Given the description of an element on the screen output the (x, y) to click on. 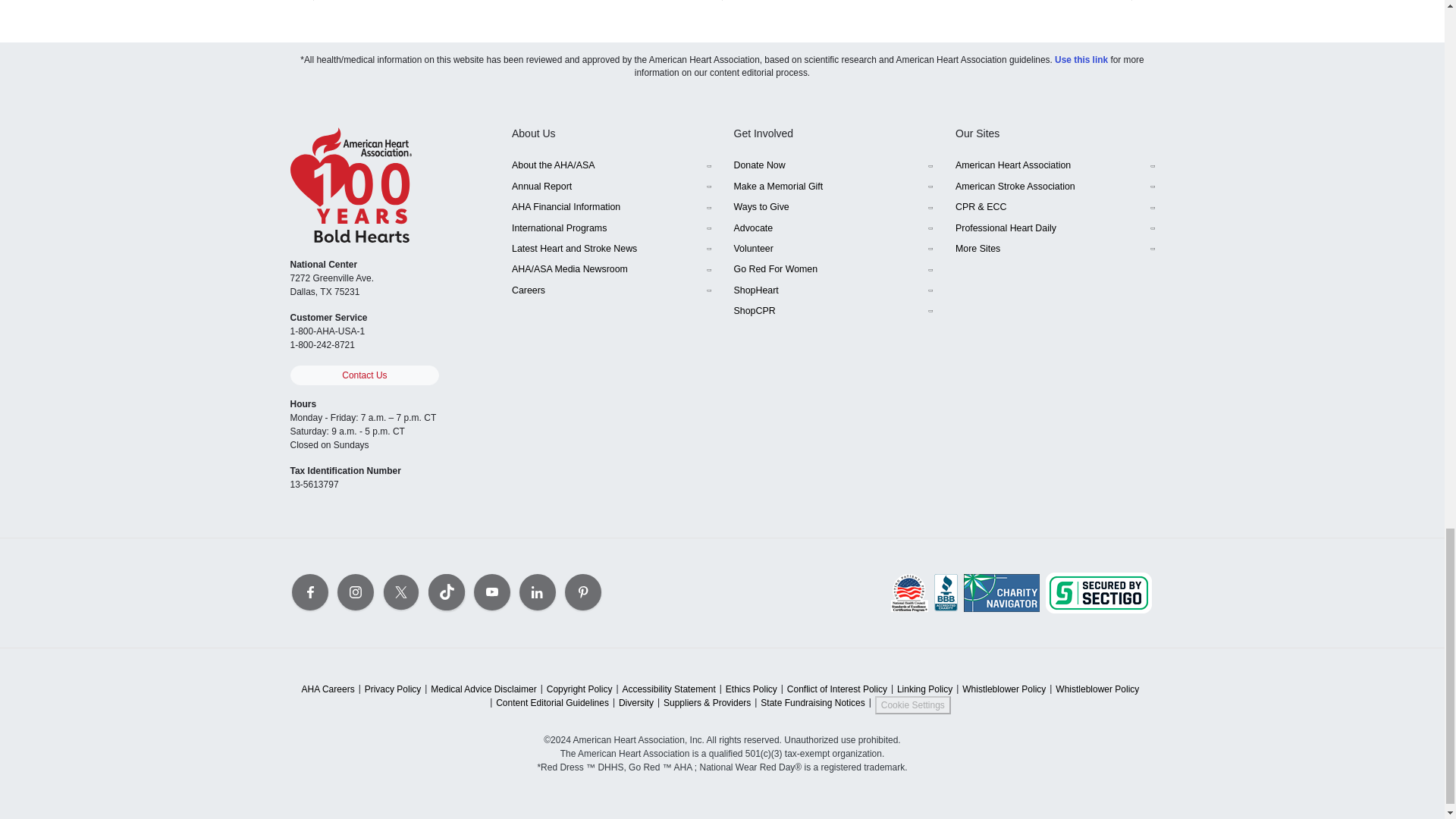
American Heart Association (1054, 165)
Latest Heart and Stroke News (611, 249)
ShopCPR (833, 311)
AHA Financial Information (611, 207)
Go Red For Women (833, 269)
ShopHeart (833, 290)
International Programs (611, 227)
American Stroke Association (1054, 186)
Donate Now (833, 165)
Make a Memorial Gift (833, 186)
Volunteer (833, 249)
Annual Report (611, 186)
Professional Heart Daily (1054, 227)
Careers (611, 290)
Ways to Give (833, 207)
